Given the description of an element on the screen output the (x, y) to click on. 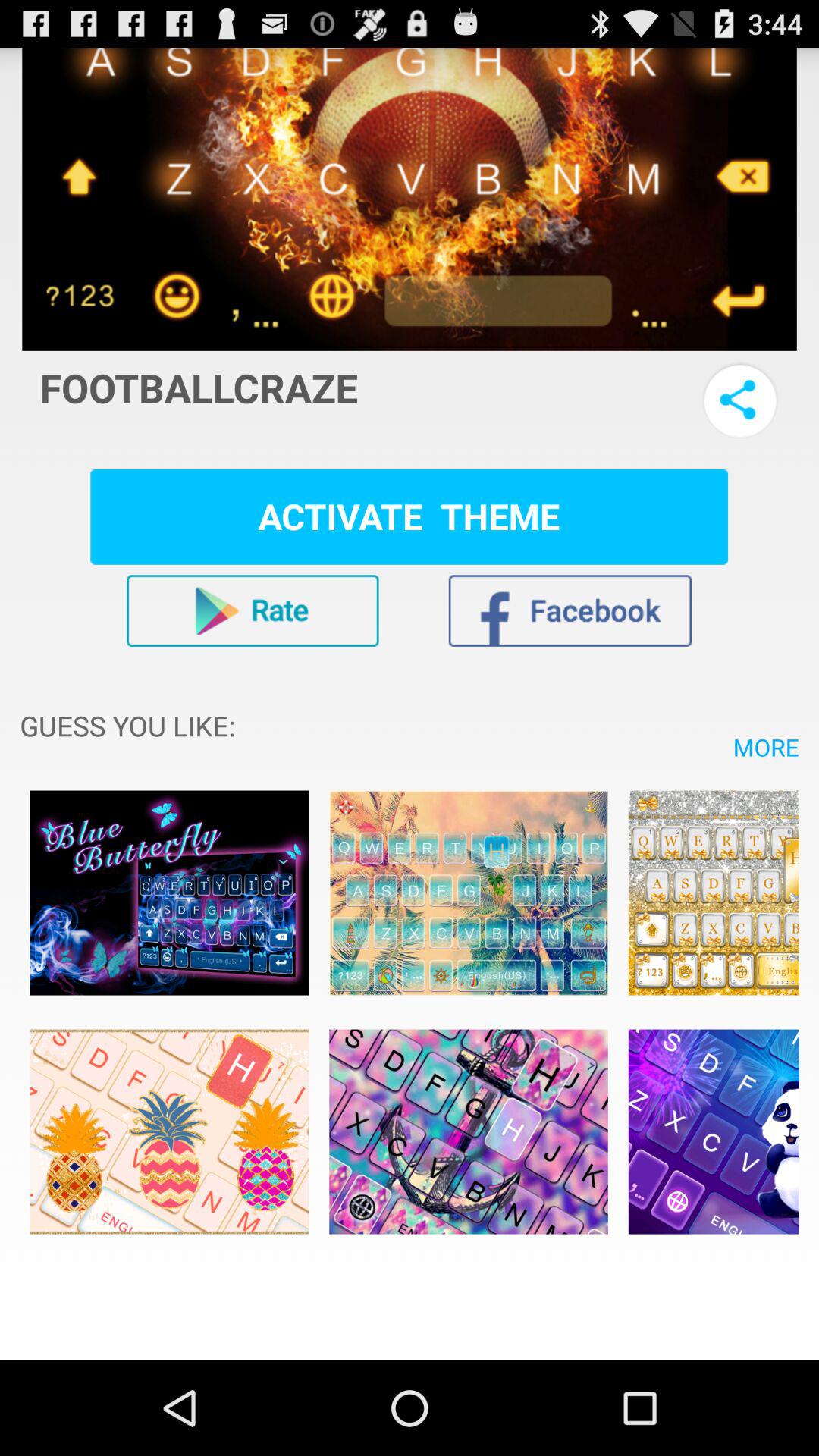
share (740, 400)
